Given the description of an element on the screen output the (x, y) to click on. 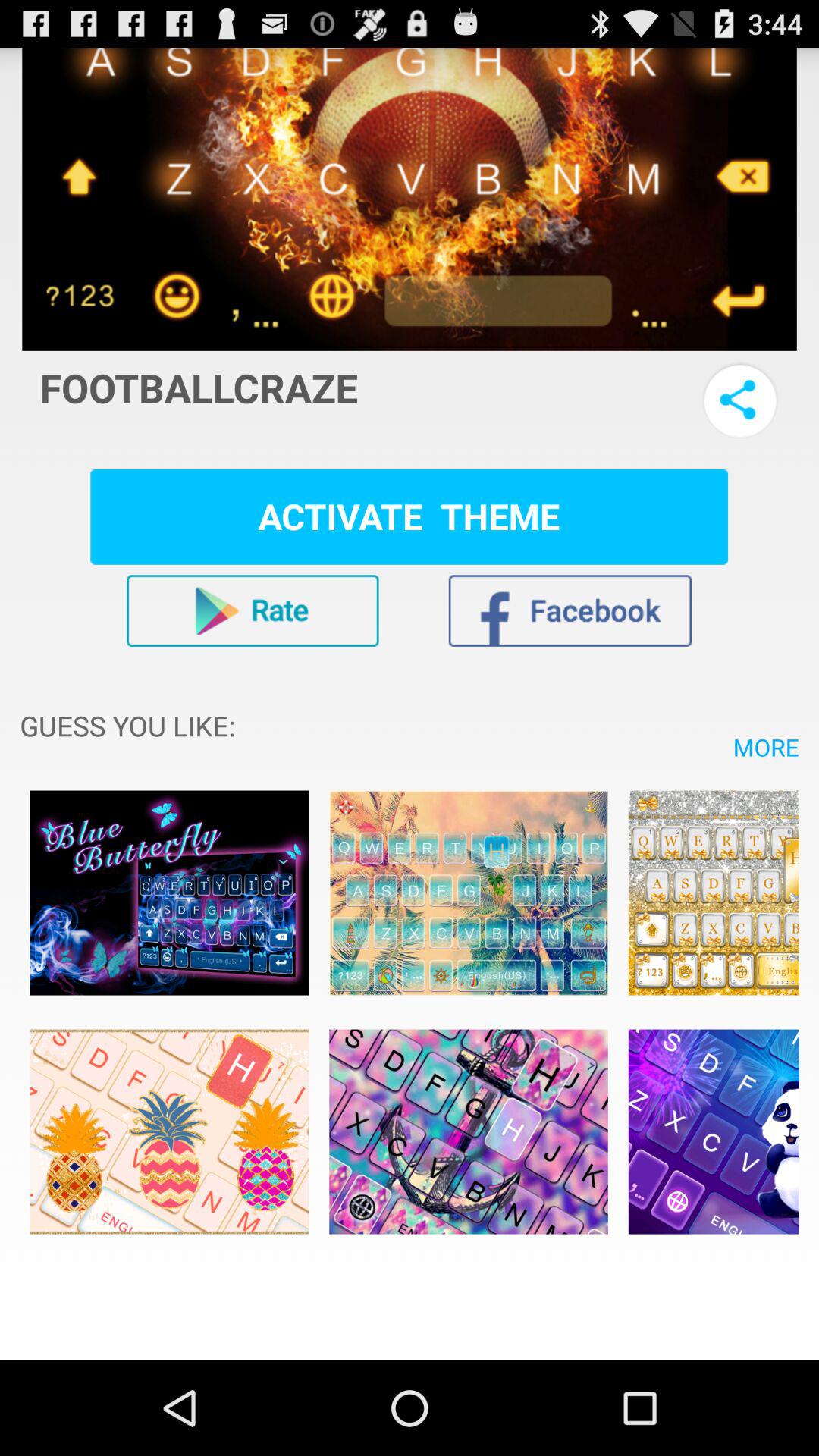
share (740, 400)
